Given the description of an element on the screen output the (x, y) to click on. 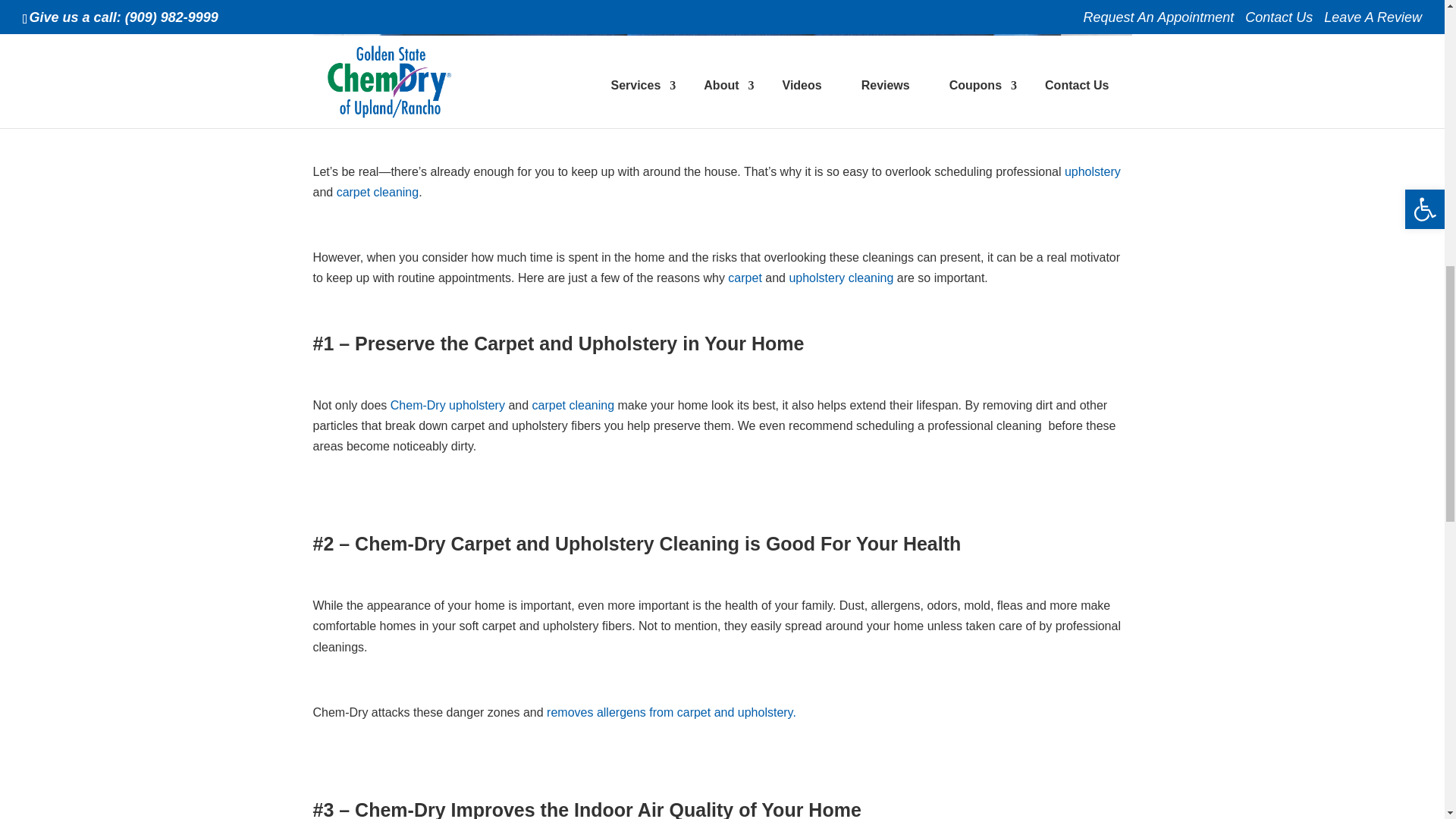
upholstery cleaning (722, 39)
